Given the description of an element on the screen output the (x, y) to click on. 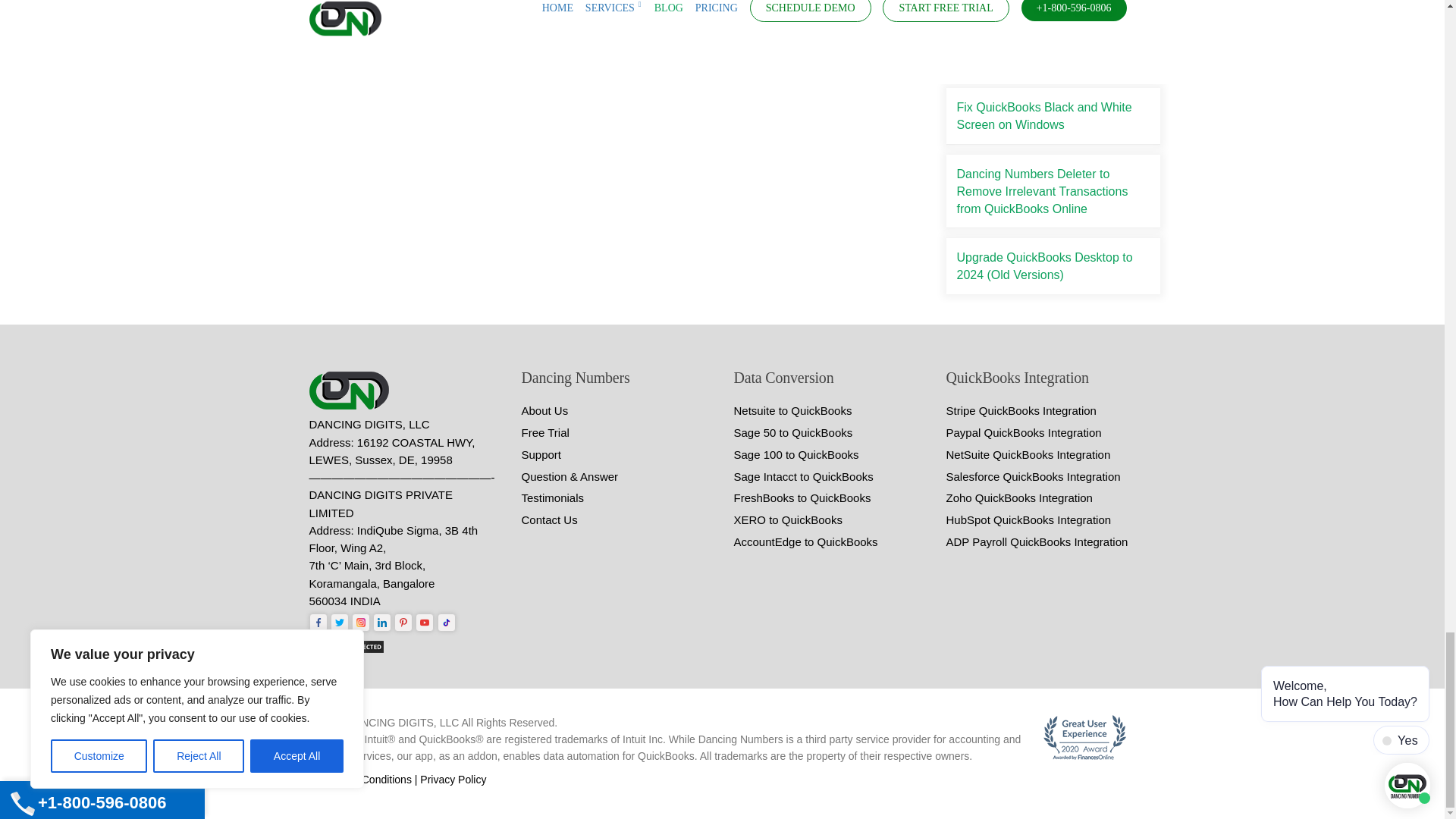
Dancing Numbers on Twitter (339, 622)
Dancing Numbers on Facebooks (317, 622)
Dancing Numbers on Pinterest (403, 622)
Dancing Numbers (352, 390)
Dancing Numbers on LinkedIn (381, 622)
Dancing Numbers on Youtube (423, 622)
Dancing Numbers on Instagram (360, 622)
